Given the description of an element on the screen output the (x, y) to click on. 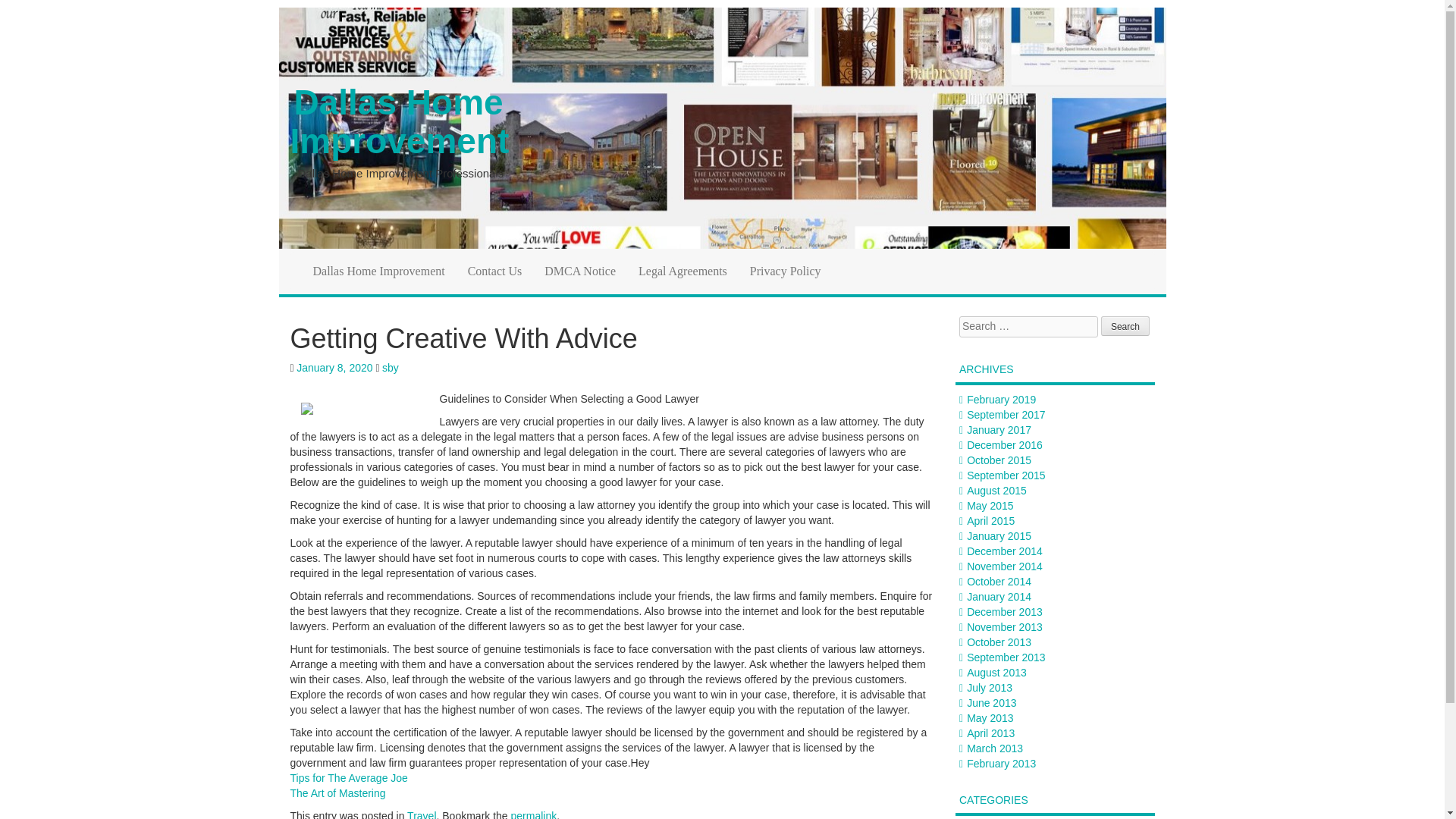
permalink (534, 814)
Legal Agreements (682, 271)
February 2019 (1000, 399)
October 2013 (998, 642)
January 2017 (998, 429)
Search (1125, 325)
April 2015 (990, 521)
January 8, 2020 (334, 367)
Dallas Home Improvement (400, 121)
Contact Us (495, 271)
